Given the description of an element on the screen output the (x, y) to click on. 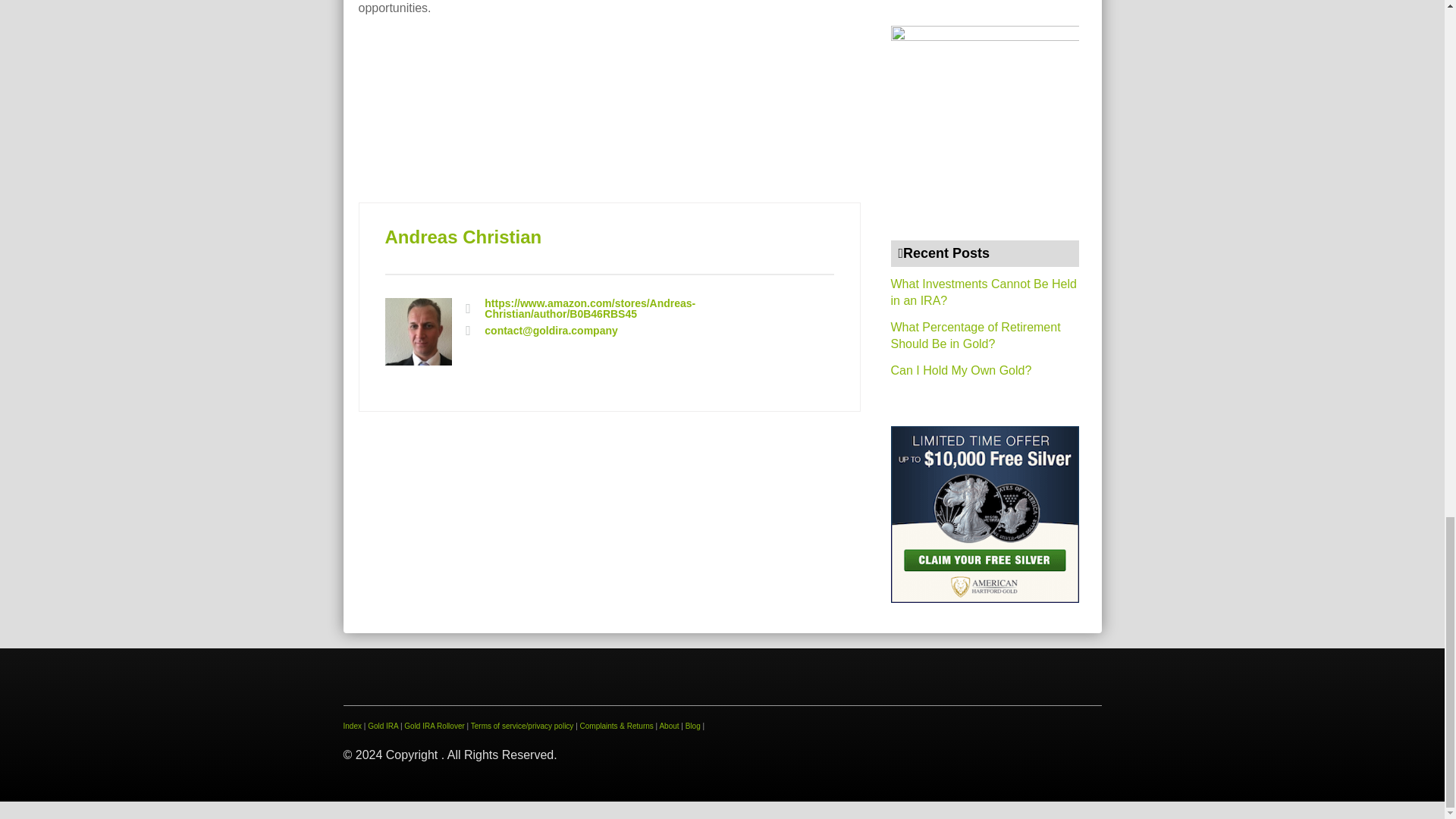
Index (351, 725)
Blog (692, 725)
Andreas Christian (463, 236)
Can I Hold My Own Gold? (959, 369)
Gold IRA Rollover (434, 725)
About (668, 725)
Gold IRA (382, 725)
What Investments Cannot Be Held in an IRA? (982, 292)
What Percentage of Retirement Should Be in Gold? (974, 335)
